Given the description of an element on the screen output the (x, y) to click on. 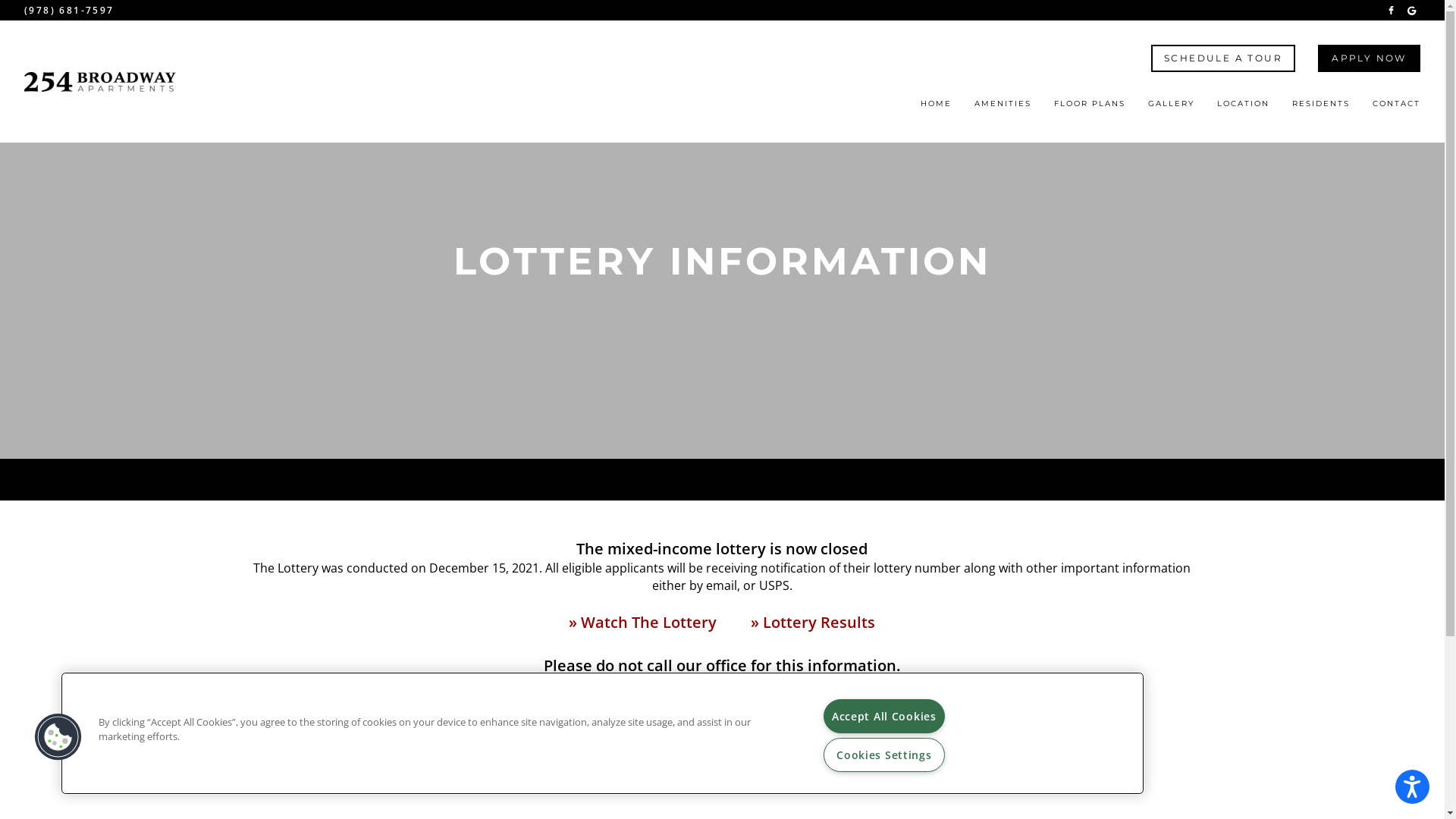
APPLY NOW Element type: text (1368, 58)
AMENITIES Element type: text (1002, 108)
LOCATION Element type: text (1243, 108)
Accept All Cookies Element type: text (883, 716)
FLOOR PLANS Element type: text (1089, 108)
Cookies Button Element type: text (58, 736)
(978) 681-7597 Element type: text (69, 9)
CONTACT Element type: text (1396, 108)
Home Element type: hover (99, 81)
SCHEDULE A TOUR Element type: text (1223, 58)
HOME Element type: text (935, 108)
Cookies Settings Element type: text (883, 754)
GALLERY Element type: text (1171, 108)
RESIDENTS Element type: text (1320, 108)
